Given the description of an element on the screen output the (x, y) to click on. 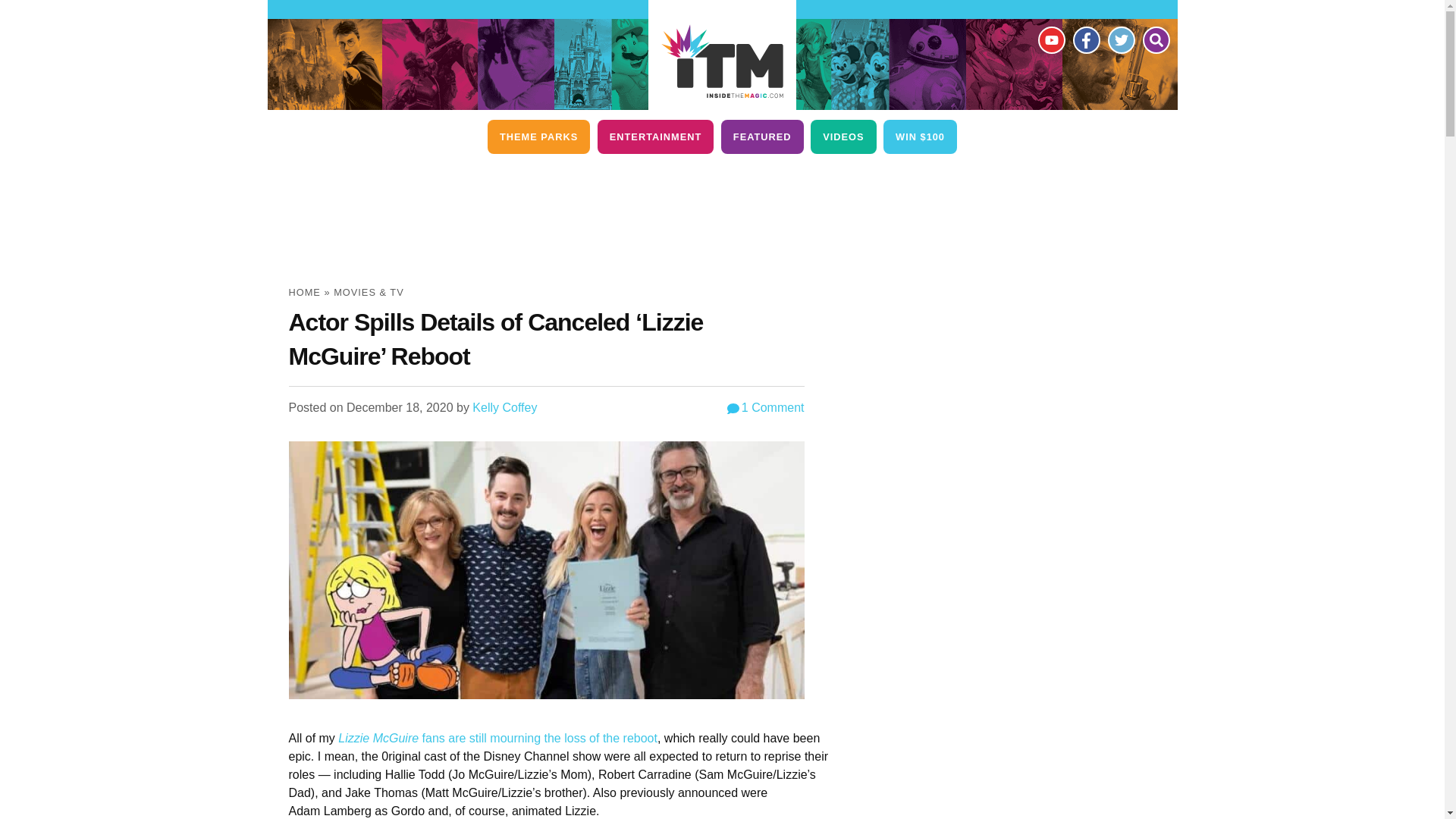
ENTERTAINMENT (655, 136)
THEME PARKS (538, 136)
Twitter (1120, 40)
YouTube (1050, 40)
Search (1155, 40)
Facebook (1085, 40)
FEATURED (761, 136)
